Given the description of an element on the screen output the (x, y) to click on. 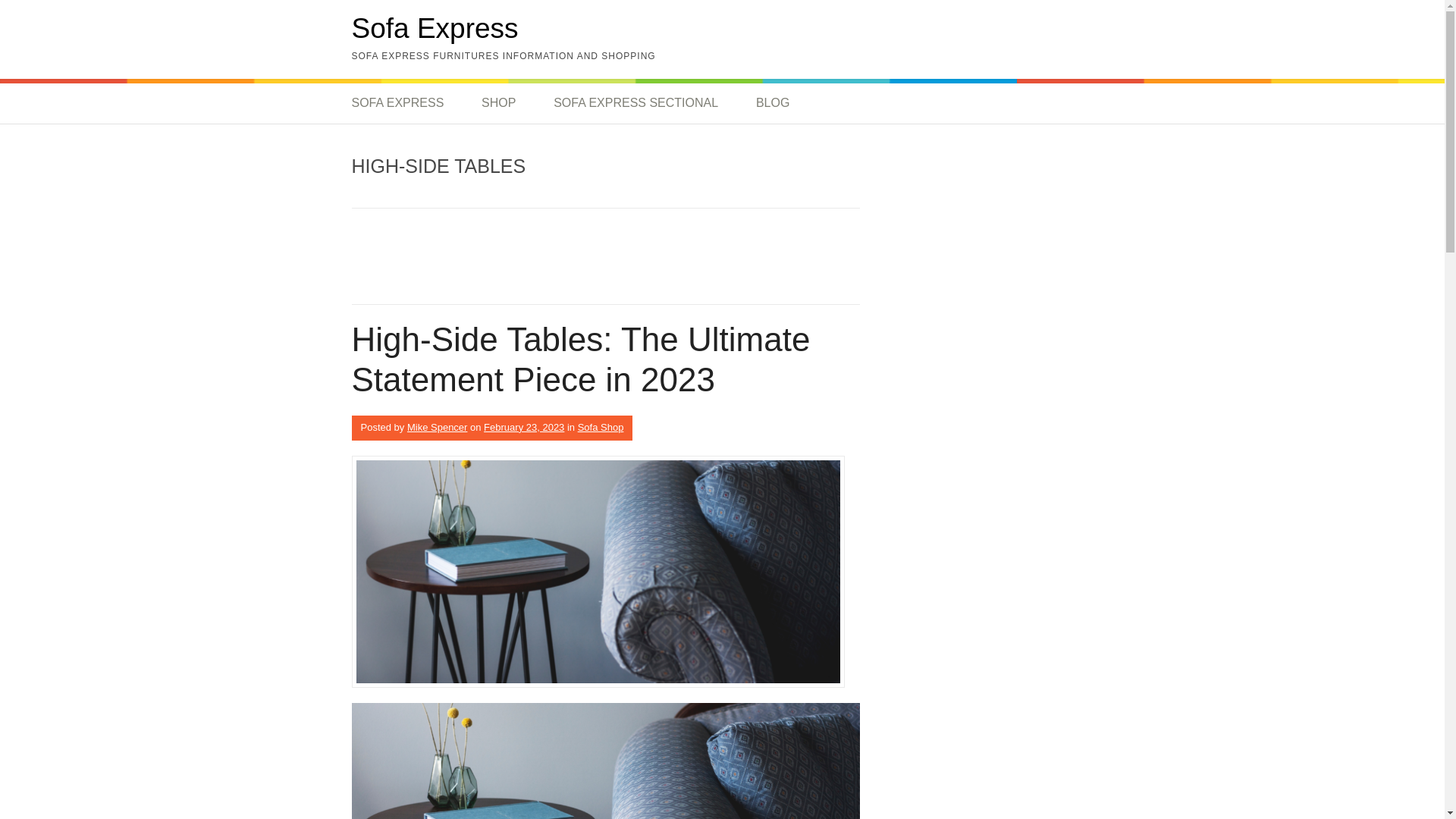
SOFA EXPRESS (406, 102)
Advertisement (529, 261)
Sofa Shop (601, 427)
February 23, 2023 (523, 427)
Sofa Express (435, 28)
Mike Spencer (437, 427)
SOFA EXPRESS SECTIONAL (635, 102)
BLOG (773, 102)
SHOP (498, 102)
High-Side Tables: The Ultimate Statement Piece in 2023 (581, 359)
